Given the description of an element on the screen output the (x, y) to click on. 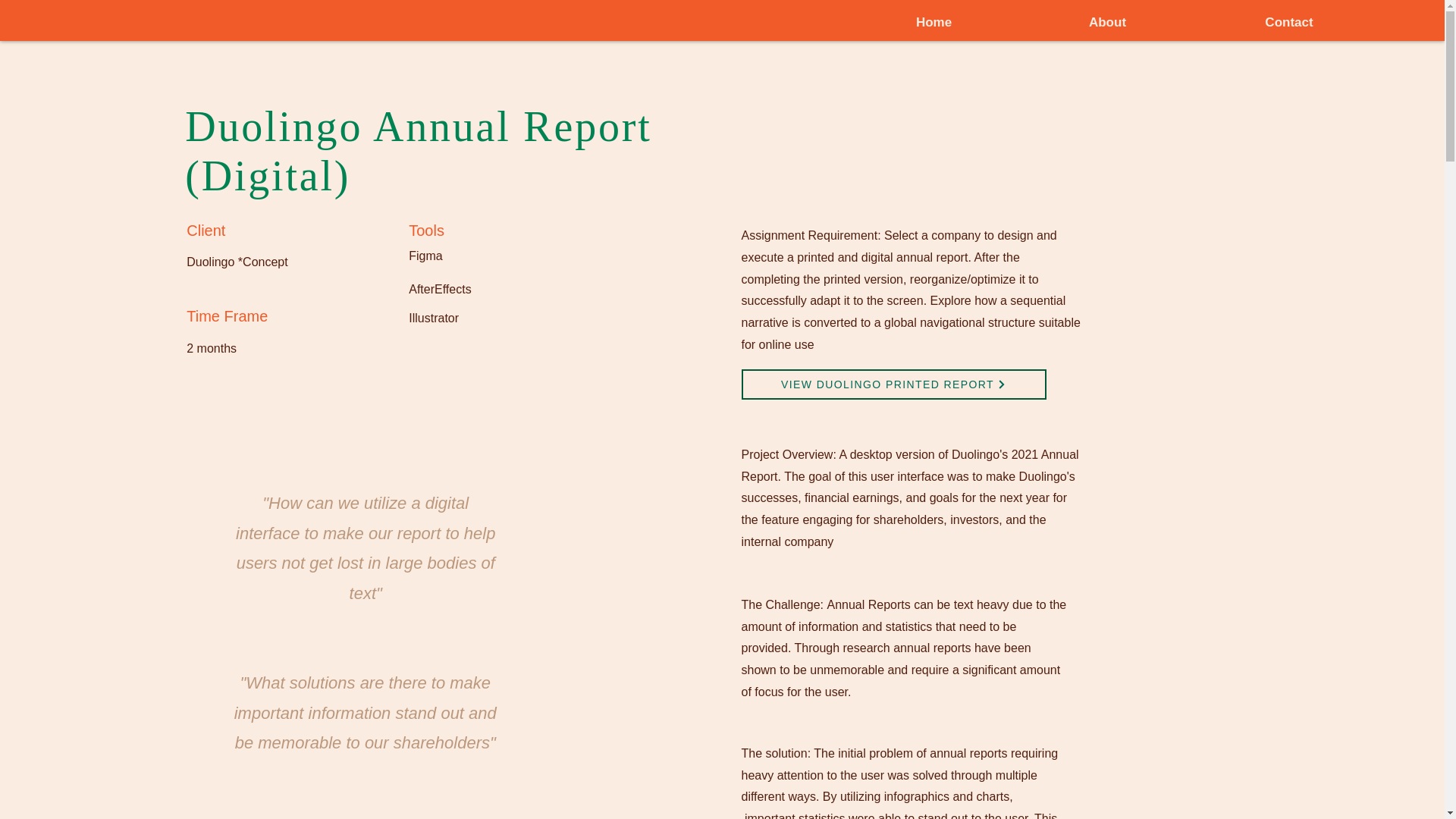
About (1106, 22)
Contact (1288, 22)
Home (933, 22)
VIEW DUOLINGO PRINTED REPORT (893, 384)
